Given the description of an element on the screen output the (x, y) to click on. 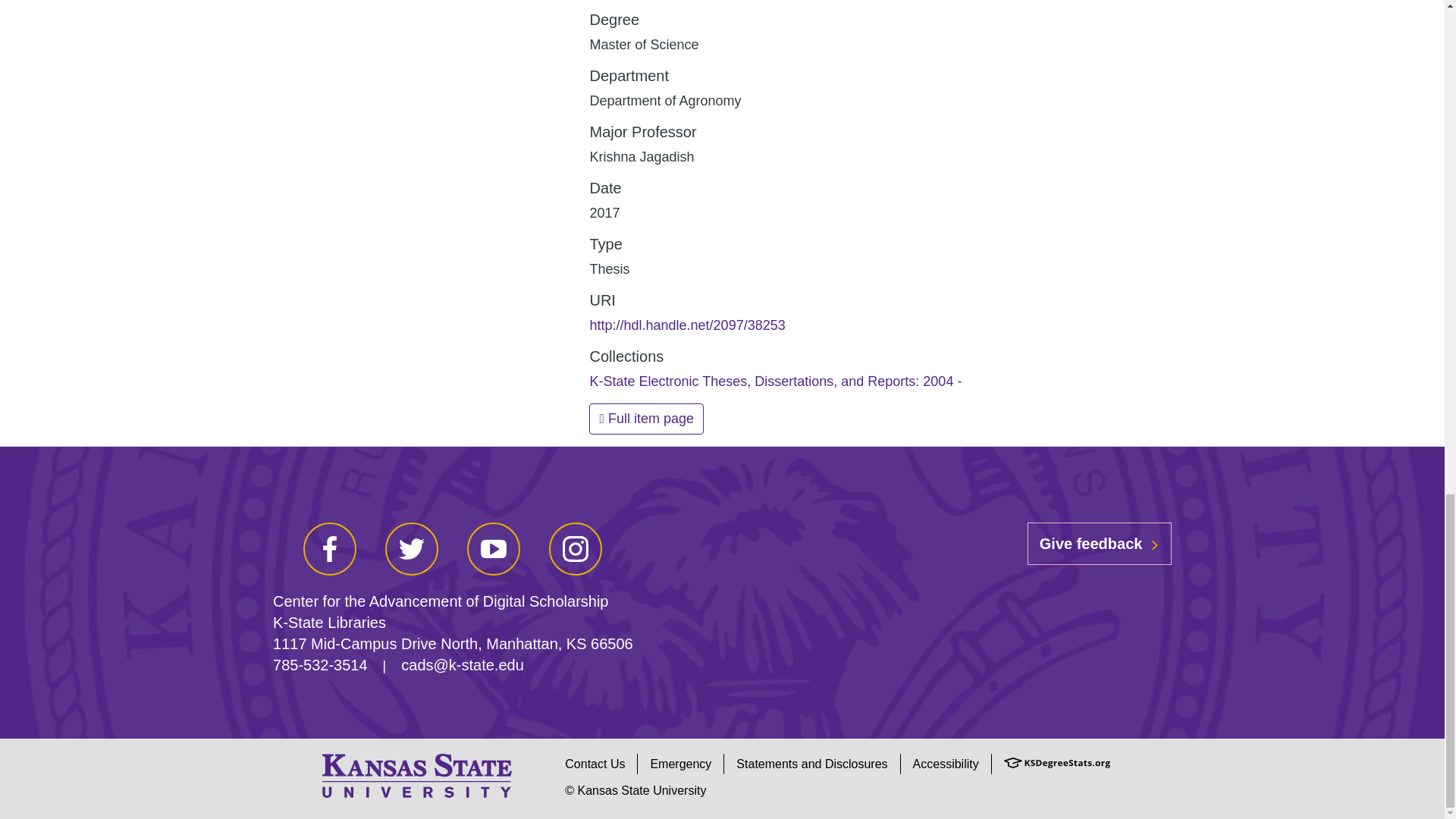
chevron (1154, 544)
785-532-3514 (320, 664)
Full item page (646, 418)
